Given the description of an element on the screen output the (x, y) to click on. 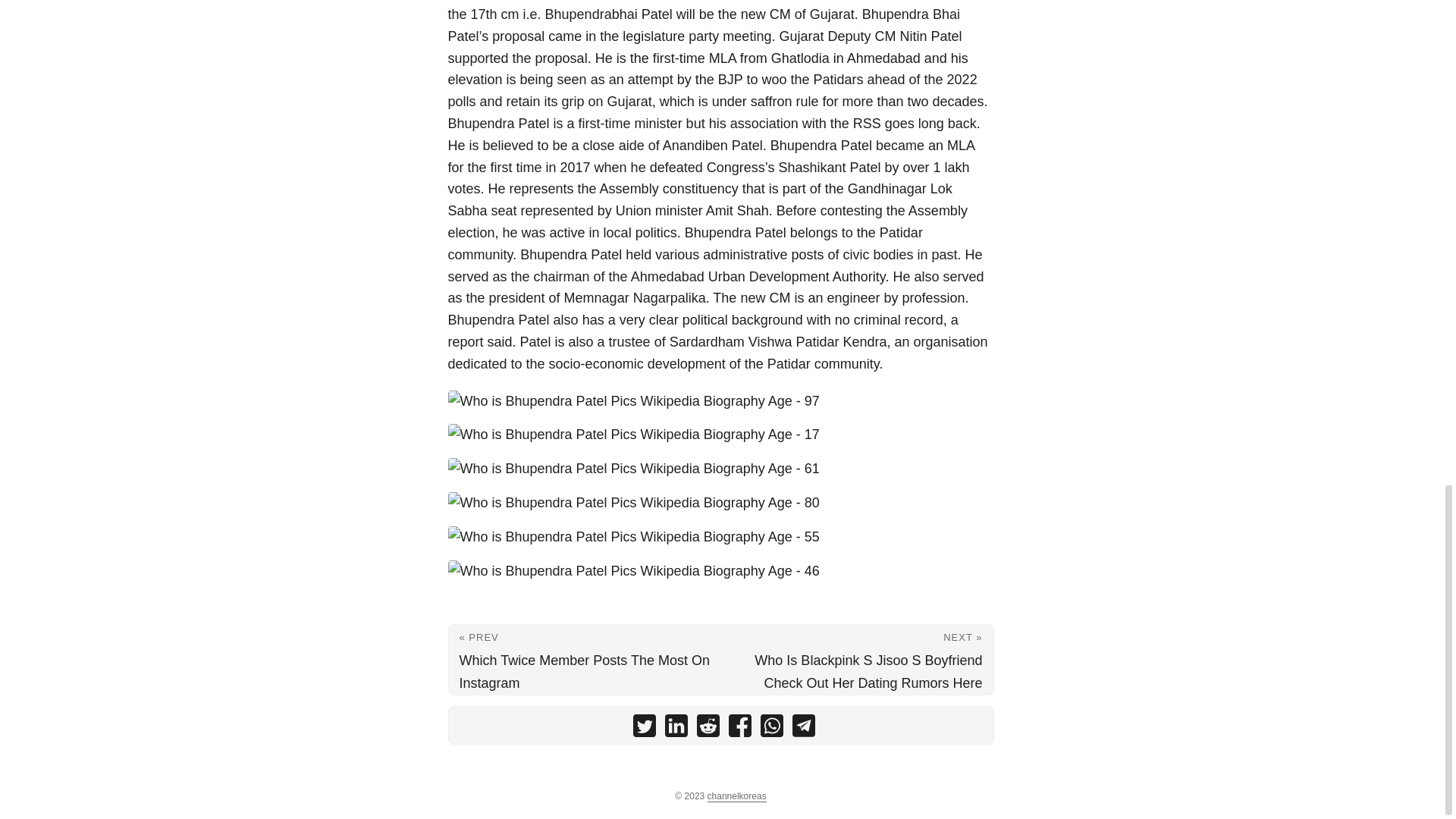
channelkoreas (737, 796)
